Given the description of an element on the screen output the (x, y) to click on. 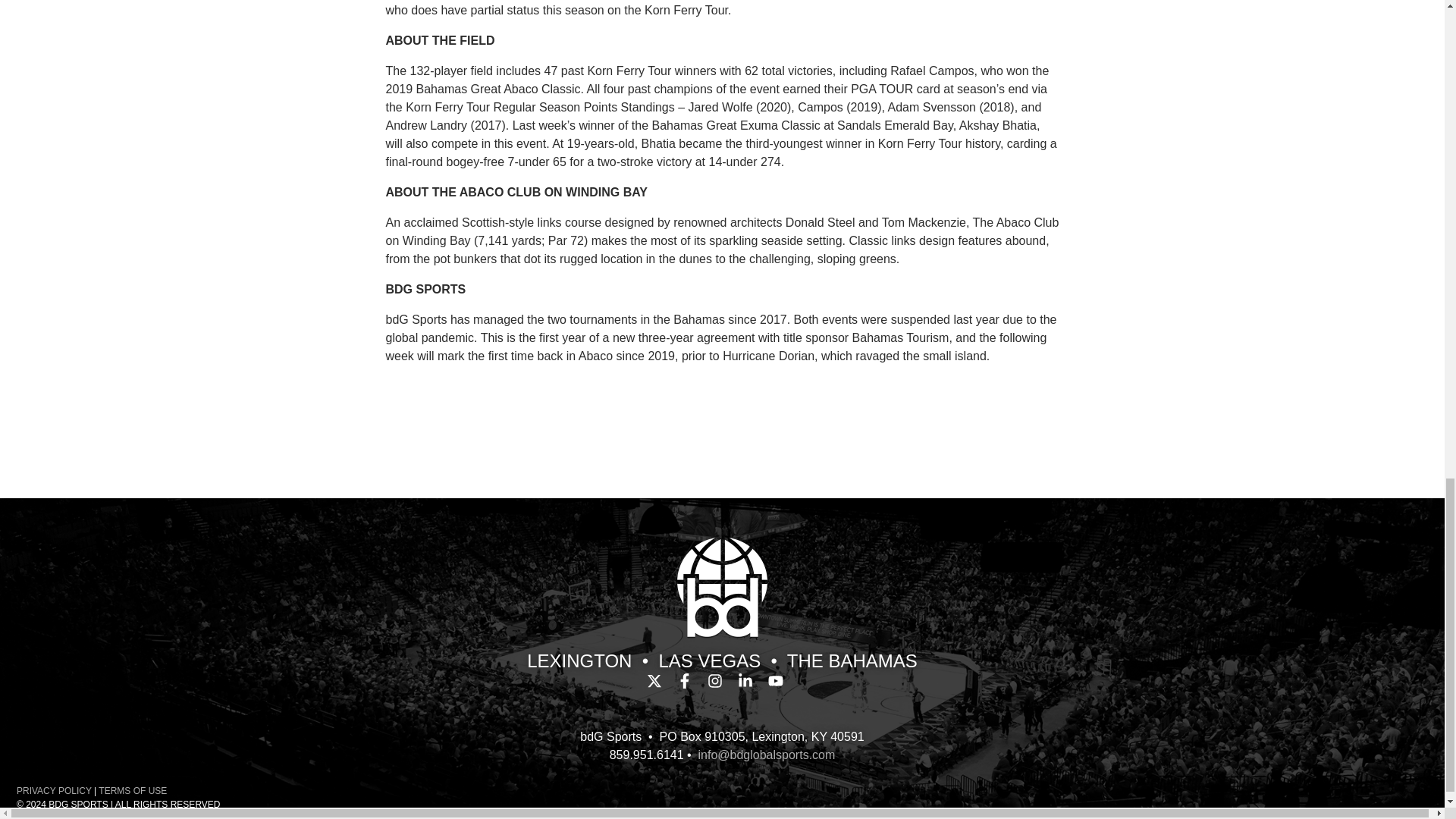
PRIVACY POLICY (53, 790)
bdG White shadow (722, 587)
TERMS OF USE (133, 790)
